Given the description of an element on the screen output the (x, y) to click on. 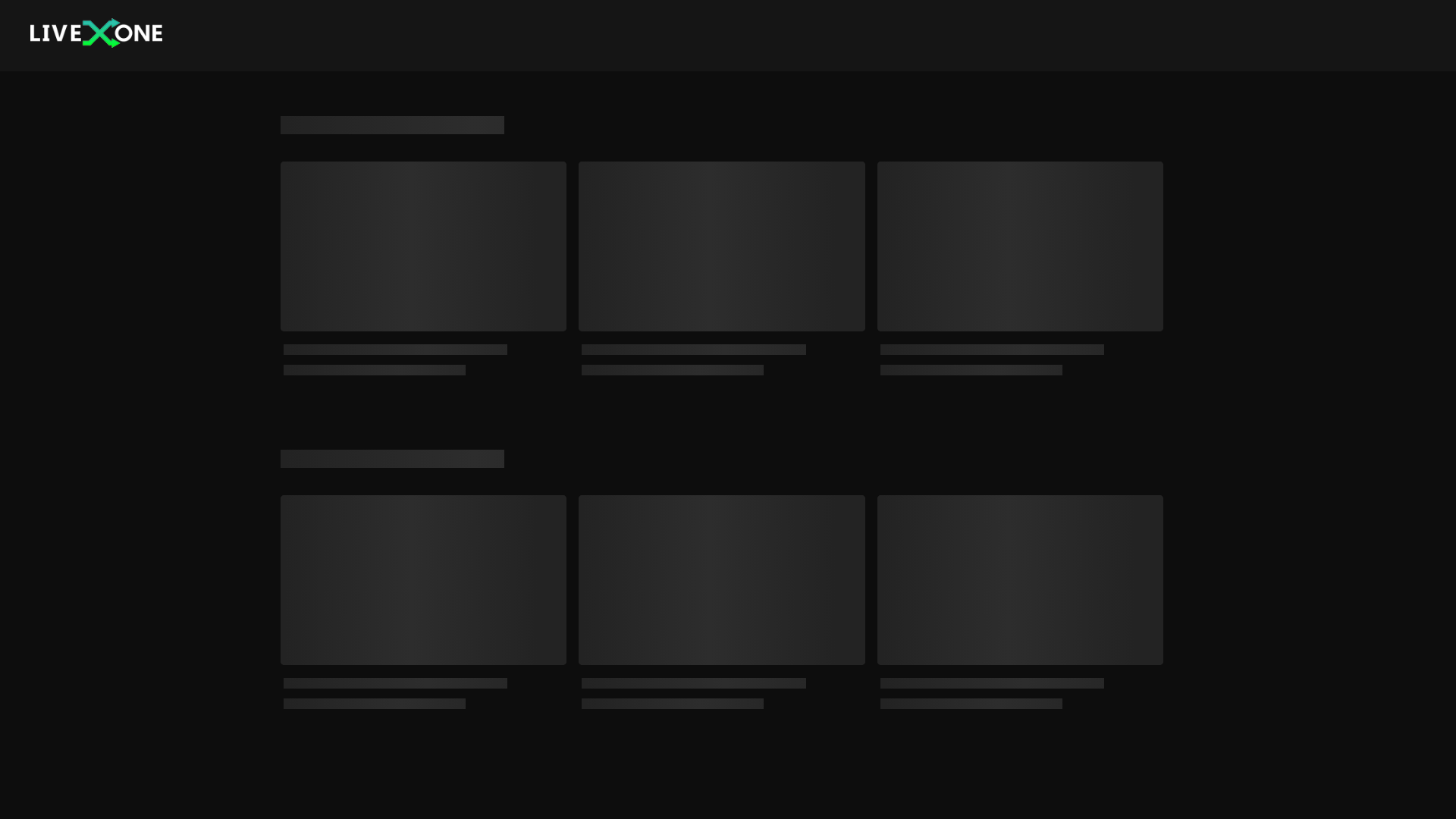
LiveOne on X (1144, 781)
LiveOne on TikTok (1096, 781)
LiveOne on YouTube (1120, 781)
LiveOne on Instagram (1072, 781)
LiveOne on Facebook (1167, 781)
